Given the description of an element on the screen output the (x, y) to click on. 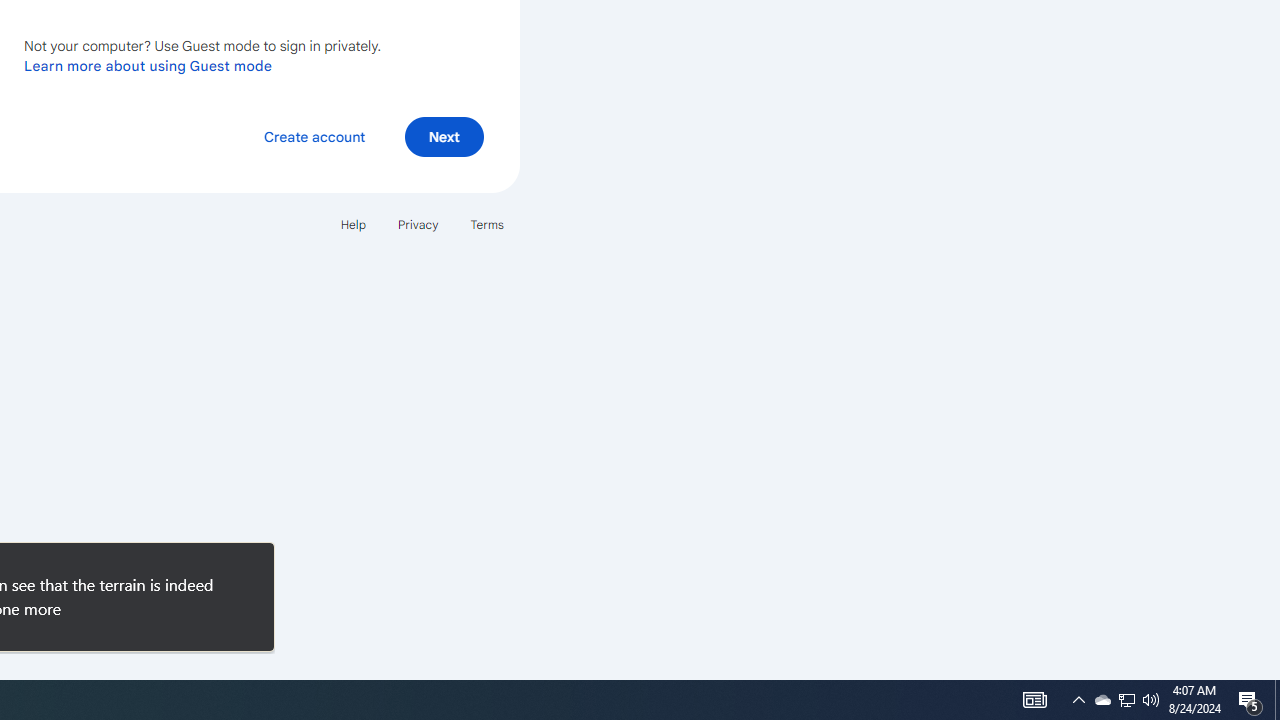
Create account (314, 135)
Next (443, 135)
Learn more about using Guest mode (148, 65)
